Given the description of an element on the screen output the (x, y) to click on. 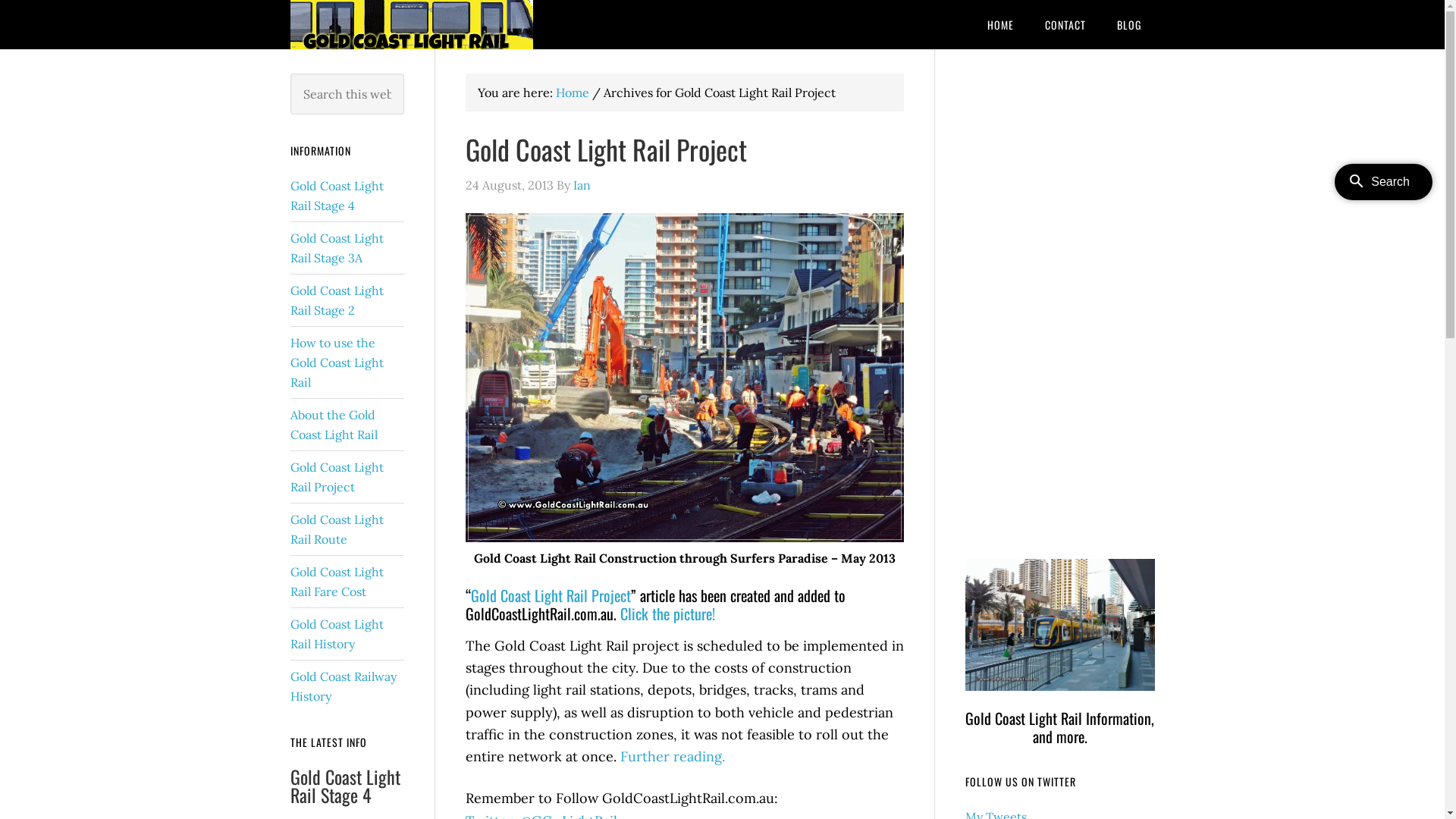
Advertisement Element type: hover (1059, 300)
How to use the Gold Coast Light Rail Element type: text (335, 362)
Gold Coast Light Rail Project Element type: text (605, 148)
Gold Coast Light Rail Fare Cost Element type: text (335, 581)
Click the picture! Element type: text (667, 613)
Gold Coast Light Rail Stage 4 Element type: text (344, 785)
Gold Coast Light Rail Project Element type: text (335, 476)
Gold Coast Light Rail Stage 4 Element type: text (335, 195)
GOLD COAST LIGHT RAIL Element type: text (410, 24)
Gold Coast Light Rail History Element type: text (335, 633)
About the Gold Coast Light Rail Element type: text (332, 424)
CONTACT Element type: text (1065, 24)
Gold Coast Light Rail Stage 3A Element type: text (335, 247)
Gold Coast Light Rail Route Element type: text (335, 528)
Ian Element type: text (581, 184)
Gold Coast Light Rail Project Element type: text (550, 594)
Search Element type: text (403, 72)
Gold Coast Railway History Element type: text (342, 685)
Home Element type: text (571, 92)
Gold Coast Light Rail Stage 2 Element type: text (335, 299)
BLOG Element type: text (1128, 24)
HOME Element type: text (1000, 24)
Further reading. Element type: text (672, 756)
